Given the description of an element on the screen output the (x, y) to click on. 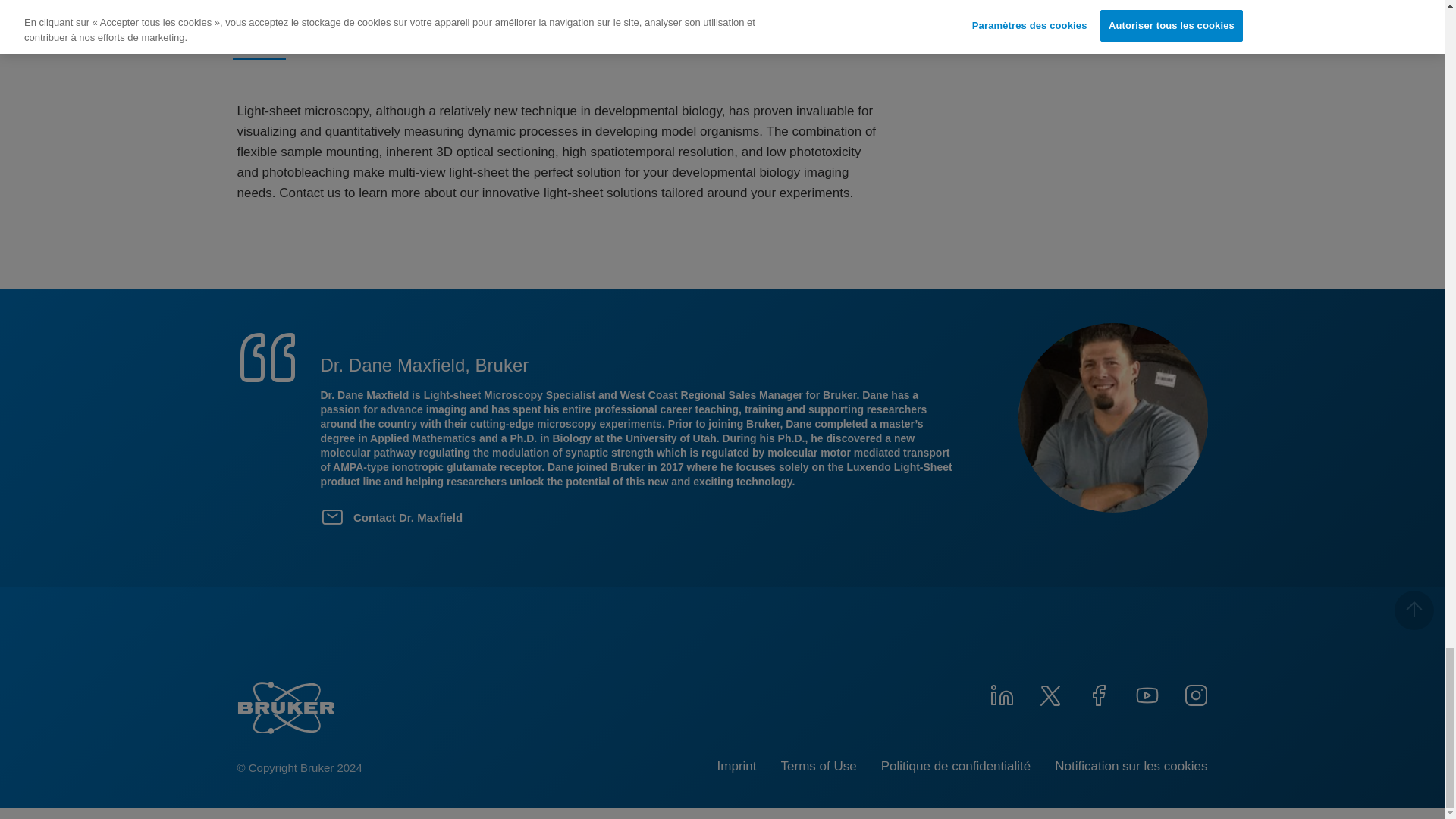
twitter (1048, 693)
facebook (1097, 693)
Contact Dr. Maxfield (395, 516)
linkedin (1000, 693)
Terms of Use (818, 766)
Notification sur les cookies (1130, 766)
Imprint (737, 766)
youtube (1146, 693)
instagram (1194, 693)
